Given the description of an element on the screen output the (x, y) to click on. 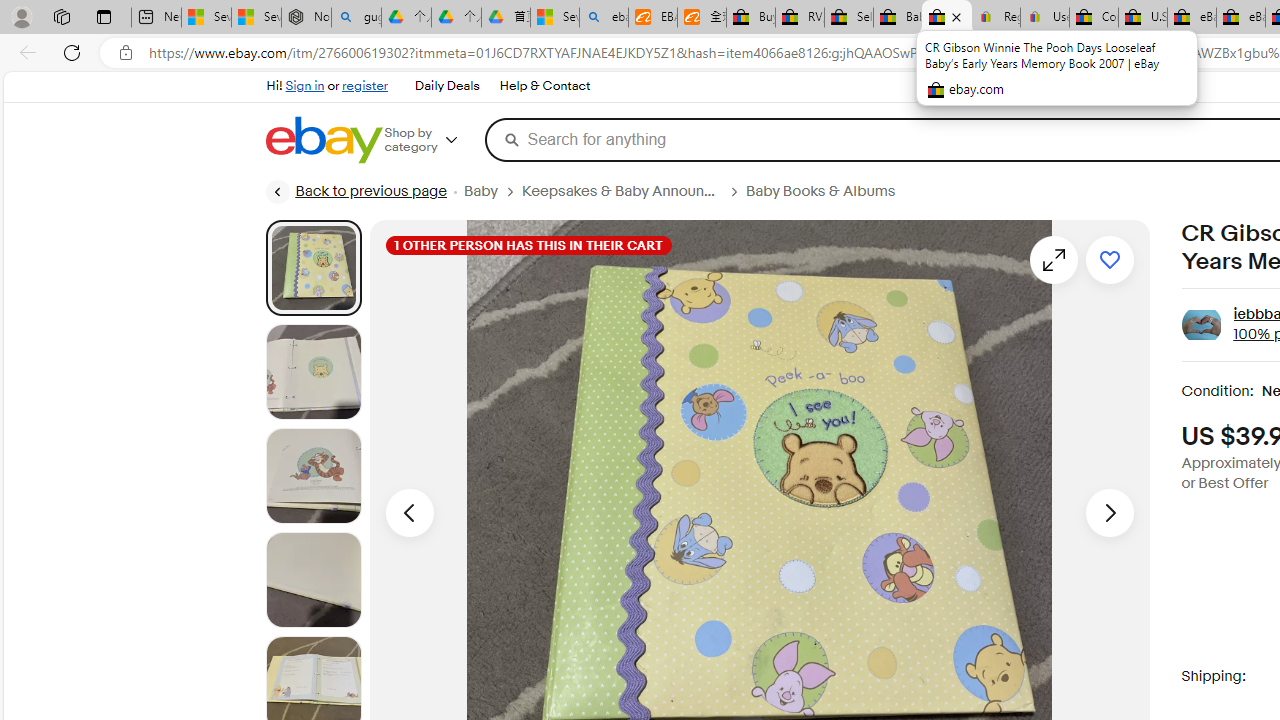
Help & Contact (545, 86)
Picture 3 of 22 (313, 475)
Picture 4 of 22 (313, 579)
Add to watchlist (1109, 259)
Next image - Item images thumbnails (1109, 512)
eBay Home (323, 139)
Picture 2 of 22 (313, 371)
